Given the description of an element on the screen output the (x, y) to click on. 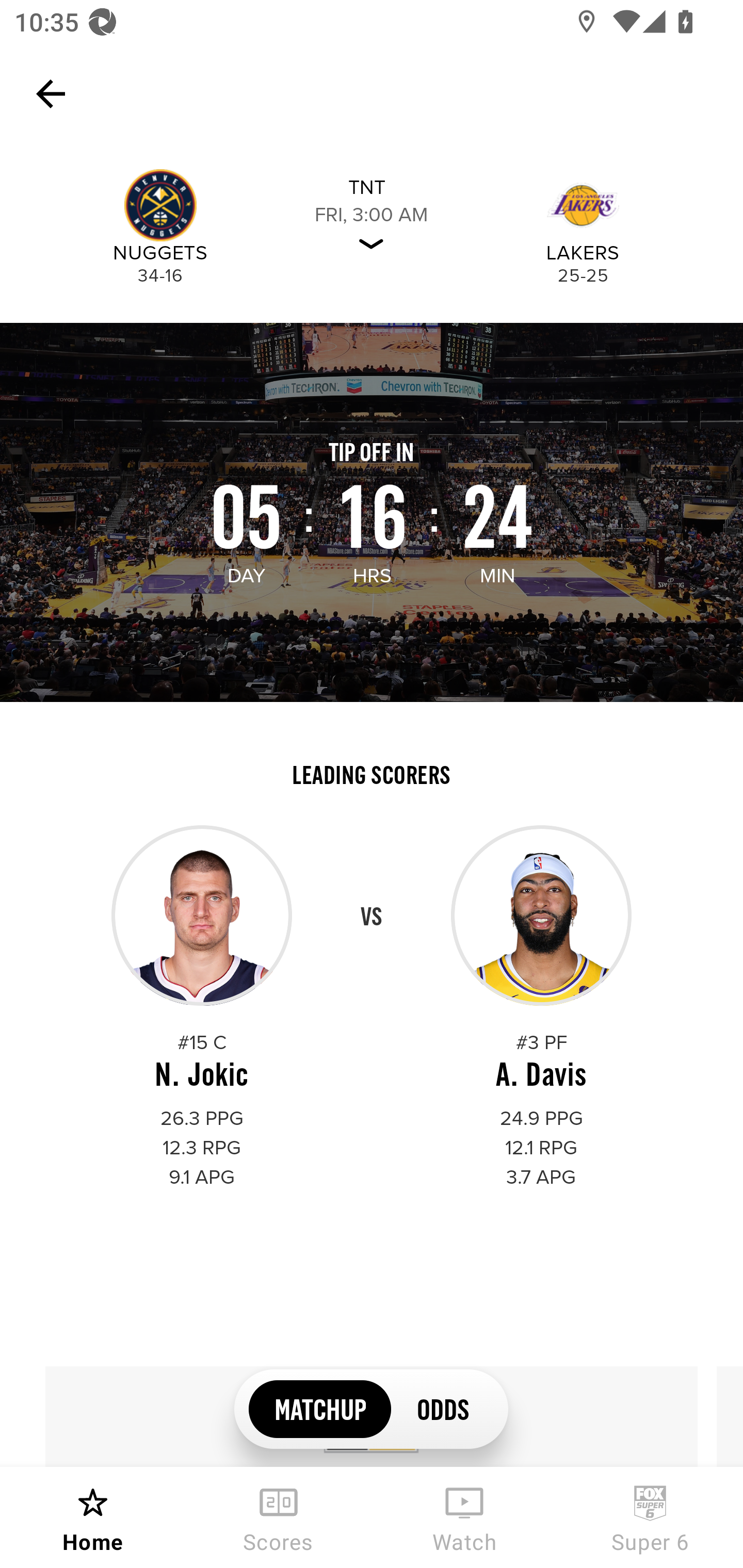
Navigate up (50, 93)
ODDS (442, 1408)
Scores (278, 1517)
Watch (464, 1517)
Super 6 (650, 1517)
